Given the description of an element on the screen output the (x, y) to click on. 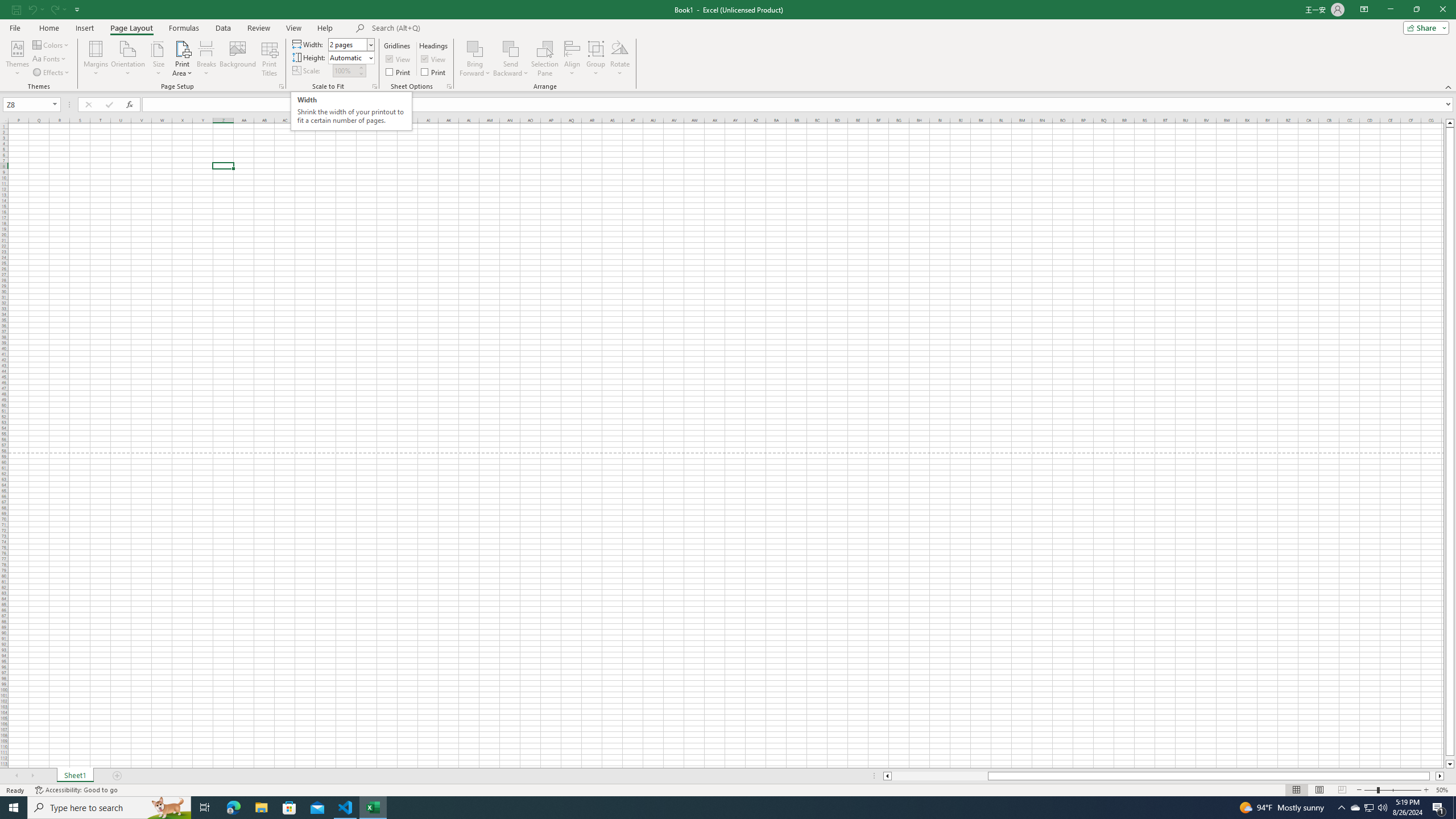
Scroll Left (16, 775)
Quick Access Toolbar (46, 9)
Redo (53, 9)
View (293, 28)
Formula Bar (798, 104)
Align (571, 58)
Name Box (27, 104)
More Options (510, 68)
Home (48, 28)
Scroll Right (32, 775)
Ribbon Display Options (1364, 9)
Sheet Options (449, 85)
Width (347, 44)
